Given the description of an element on the screen output the (x, y) to click on. 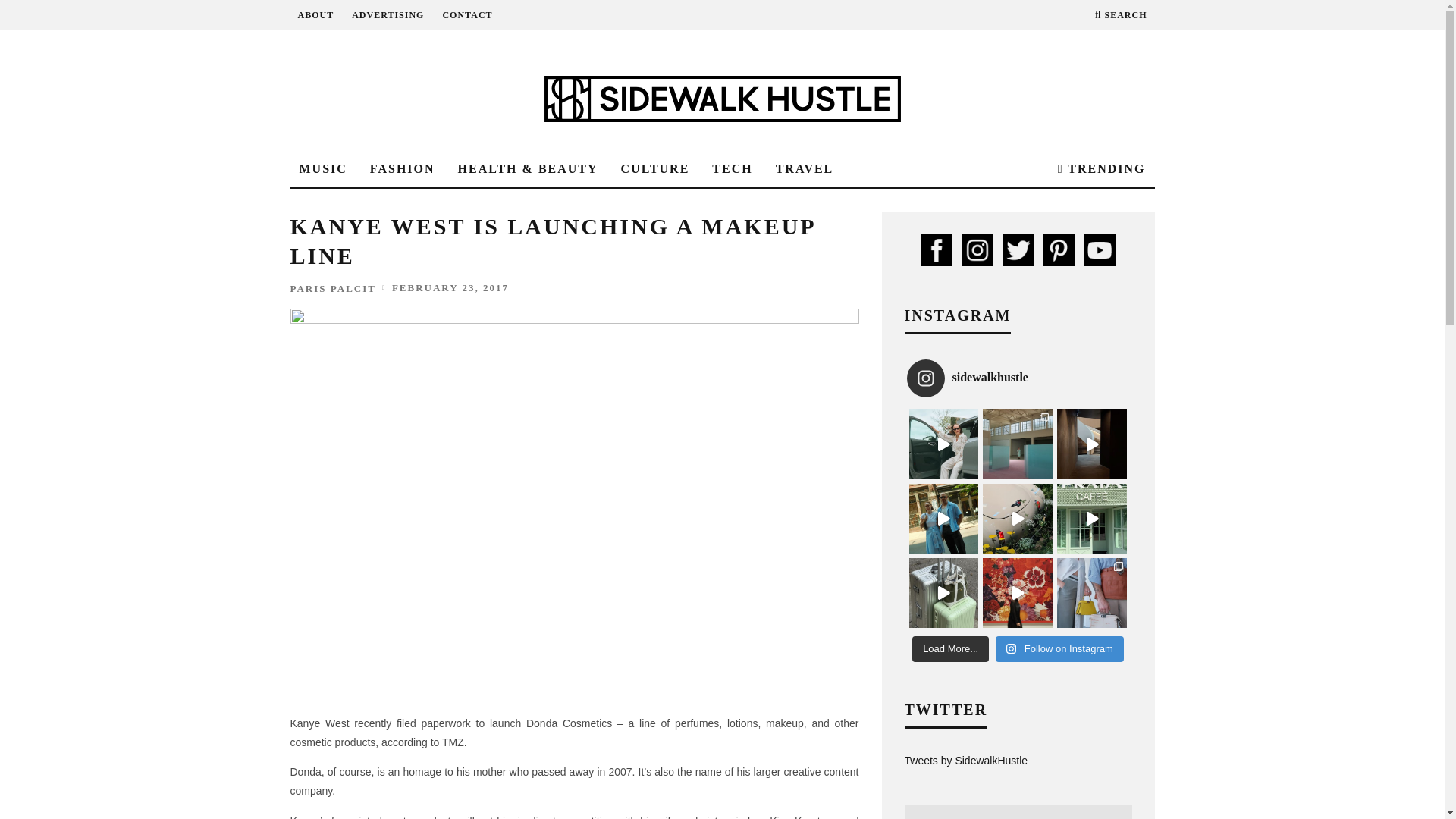
ABOUT (315, 15)
FASHION (402, 169)
MUSIC (322, 169)
Search (1120, 15)
SEARCH (1120, 15)
CONTACT (467, 15)
ADVERTISING (387, 15)
Log In (722, 408)
